Given the description of an element on the screen output the (x, y) to click on. 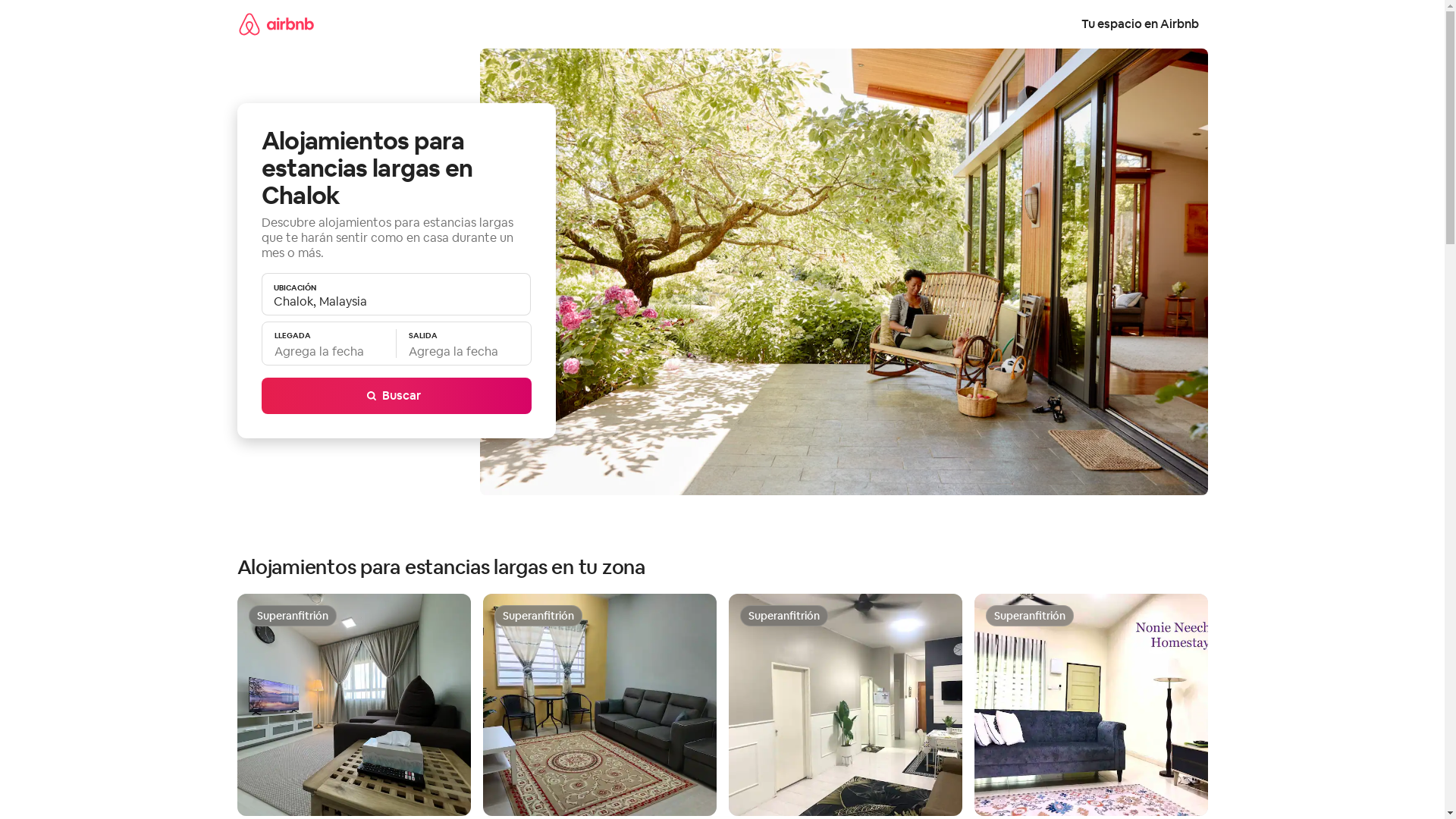
Tu espacio en Airbnb Element type: text (1140, 23)
Buscar Element type: text (395, 395)
